Given the description of an element on the screen output the (x, y) to click on. 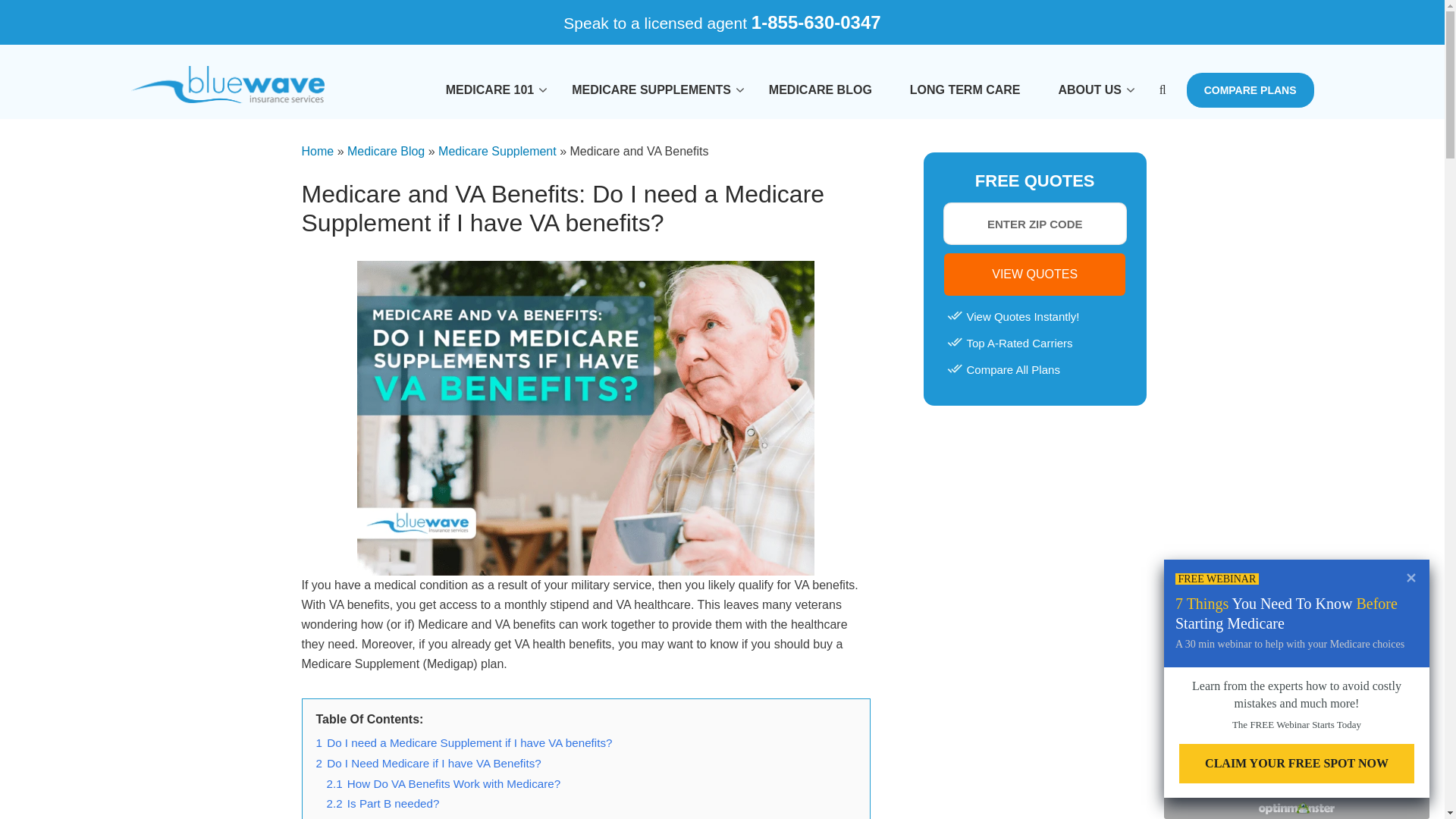
View Quotes (1034, 274)
